Given the description of an element on the screen output the (x, y) to click on. 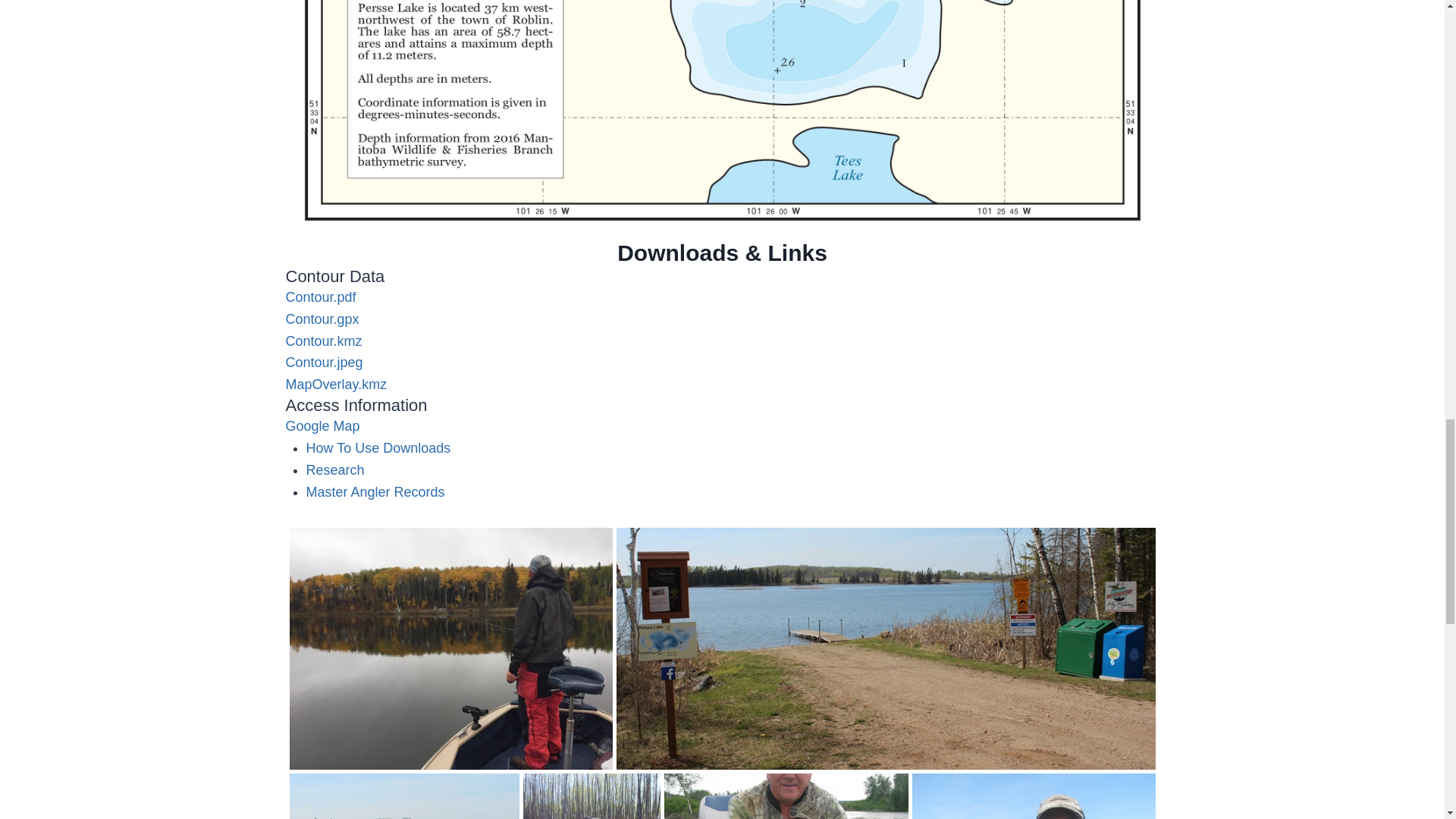
How To Use Downloads (378, 447)
Contour.jpeg (323, 362)
Google Map (322, 426)
Contour.kmz (323, 340)
Research (335, 469)
Contour.pdf (320, 296)
Contour.gpx (321, 319)
MapOverlay.kmz (336, 384)
Master Angler Records (375, 491)
